Given the description of an element on the screen output the (x, y) to click on. 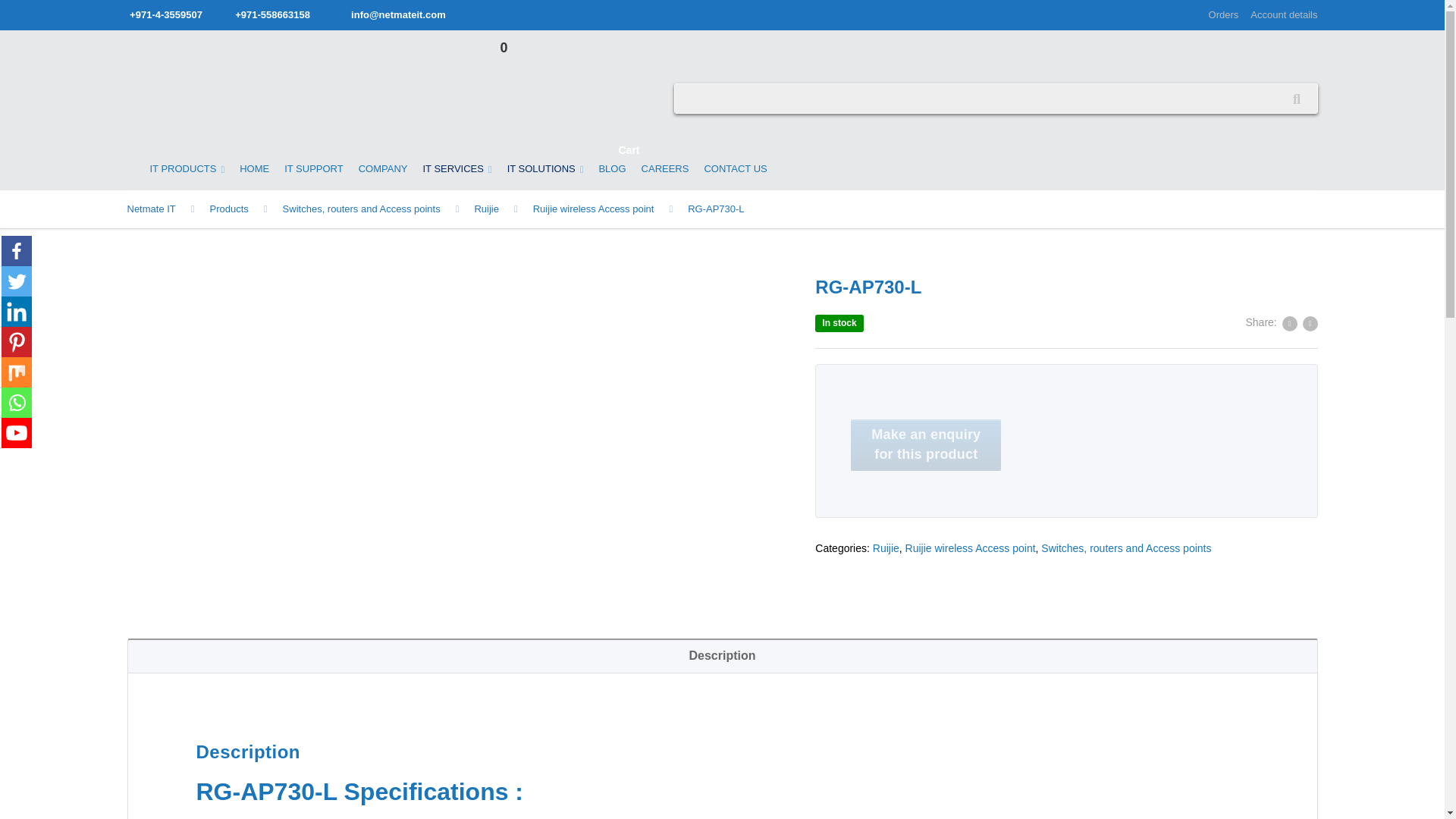
IT PRODUCTS (187, 172)
Go to the Ruijie wireless Access point Category archives. (609, 209)
Linkedin (16, 311)
Whatsapp (16, 402)
Go to RG-AP730-L. (715, 209)
Facebook (16, 250)
Orders (1226, 15)
Make an enquiry for this product (925, 444)
Go to Netmate IT. (168, 209)
Go to the Ruijie Category archives. (503, 209)
Mix (16, 372)
Go to Products. (245, 209)
Pinterest (513, 98)
